Given the description of an element on the screen output the (x, y) to click on. 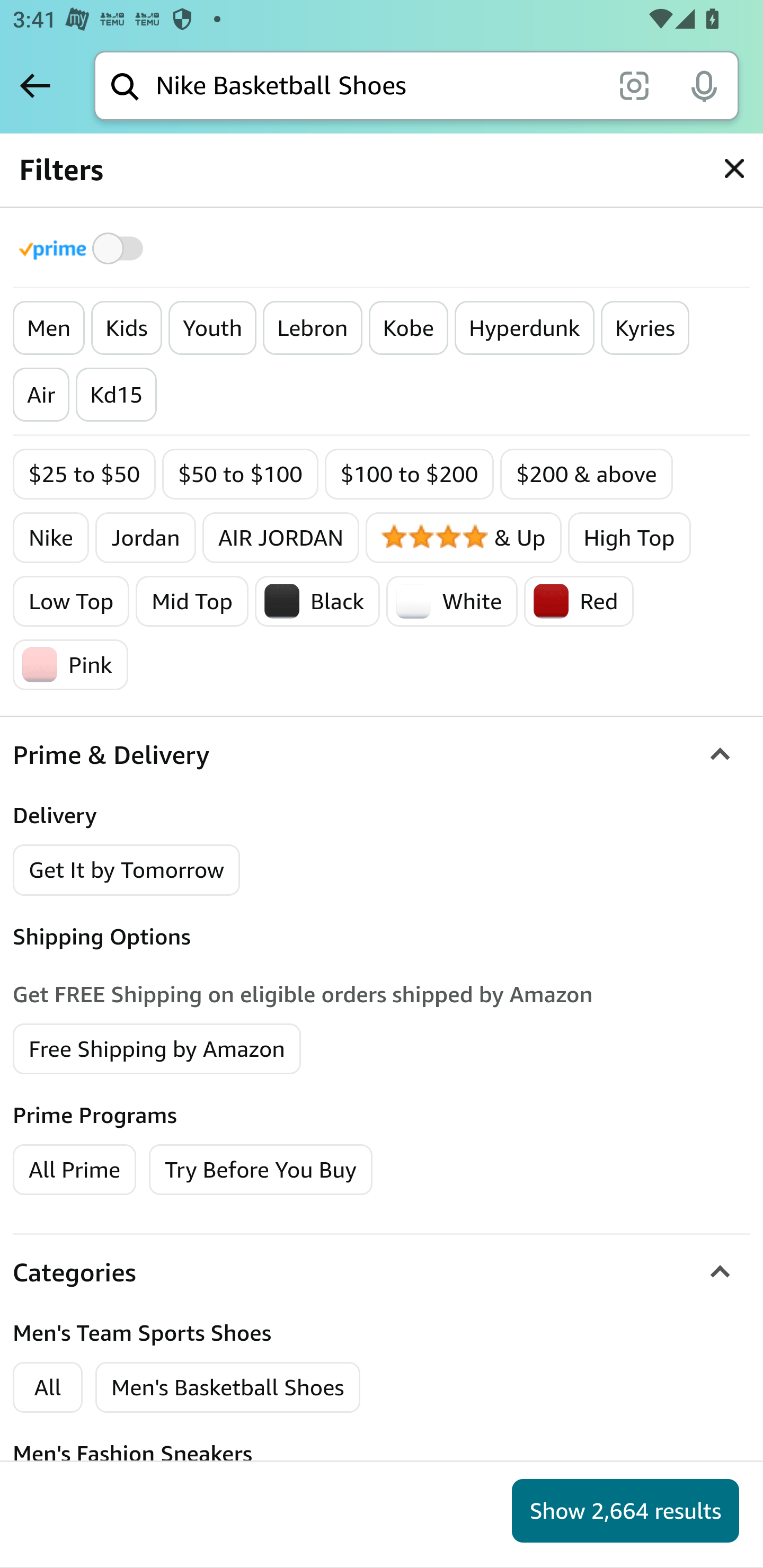
Back (35, 85)
scan it (633, 85)
Toggle to filter by Prime products Prime Eligible (83, 247)
Men (48, 328)
Kids (125, 328)
Youth (212, 328)
Lebron (312, 328)
Kobe (408, 328)
Hyperdunk (524, 328)
Kyries (643, 328)
Air (41, 394)
Kd15 (115, 394)
$25 to $50 (84, 474)
$50 to $100 (240, 474)
$100 to $200 (409, 474)
$200 & above (586, 474)
